Given the description of an element on the screen output the (x, y) to click on. 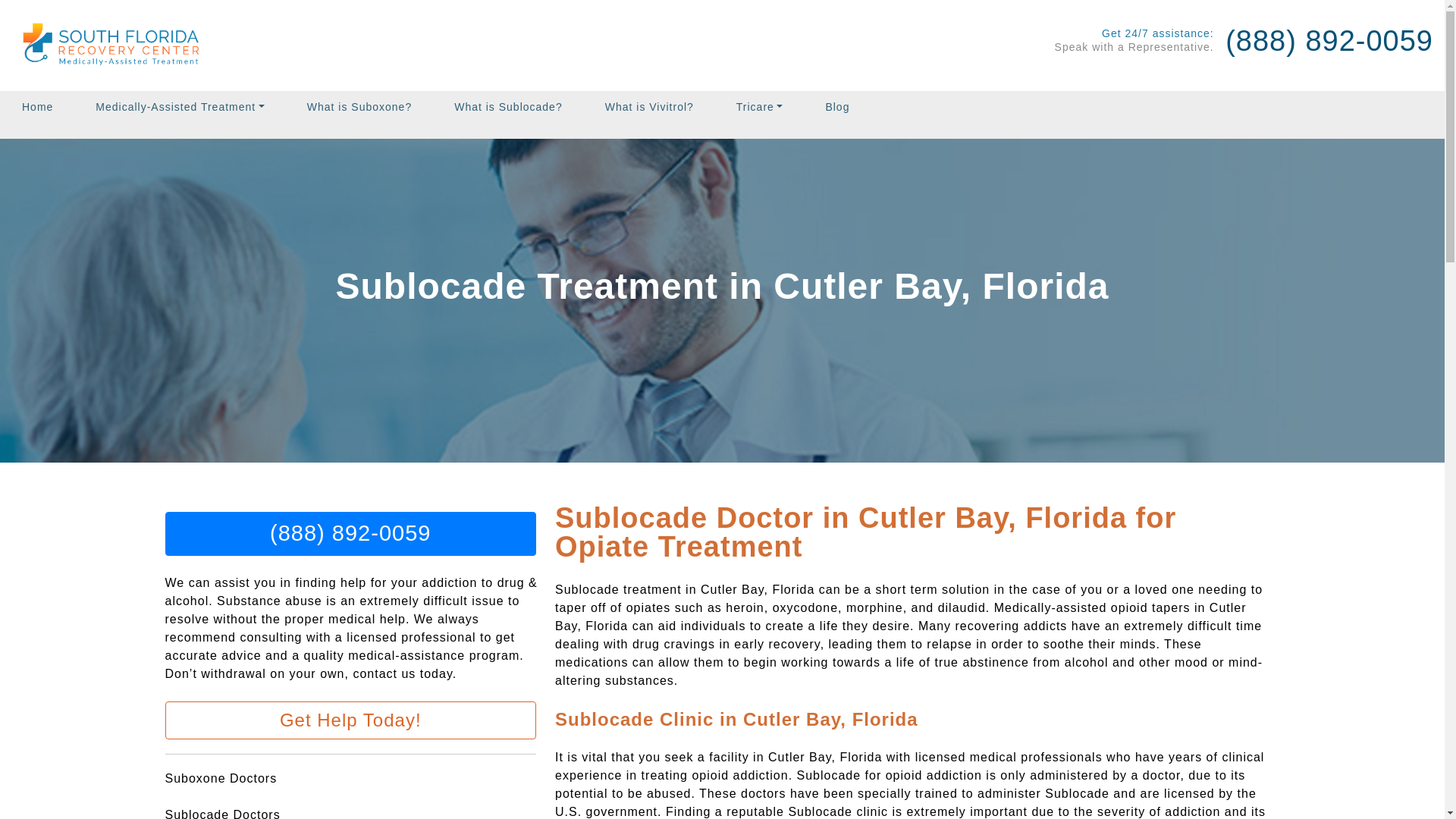
What is Suboxone? (358, 107)
Suboxone Doctors (221, 778)
Medically-Assisted Treatment (179, 107)
Home (42, 107)
Get Help Today! (351, 719)
South Florida Recovery Center (116, 45)
What is Vivitrol? (648, 107)
What is Sublocade? (507, 107)
Tricare (759, 107)
Sublocade Doctors (223, 813)
